Given the description of an element on the screen output the (x, y) to click on. 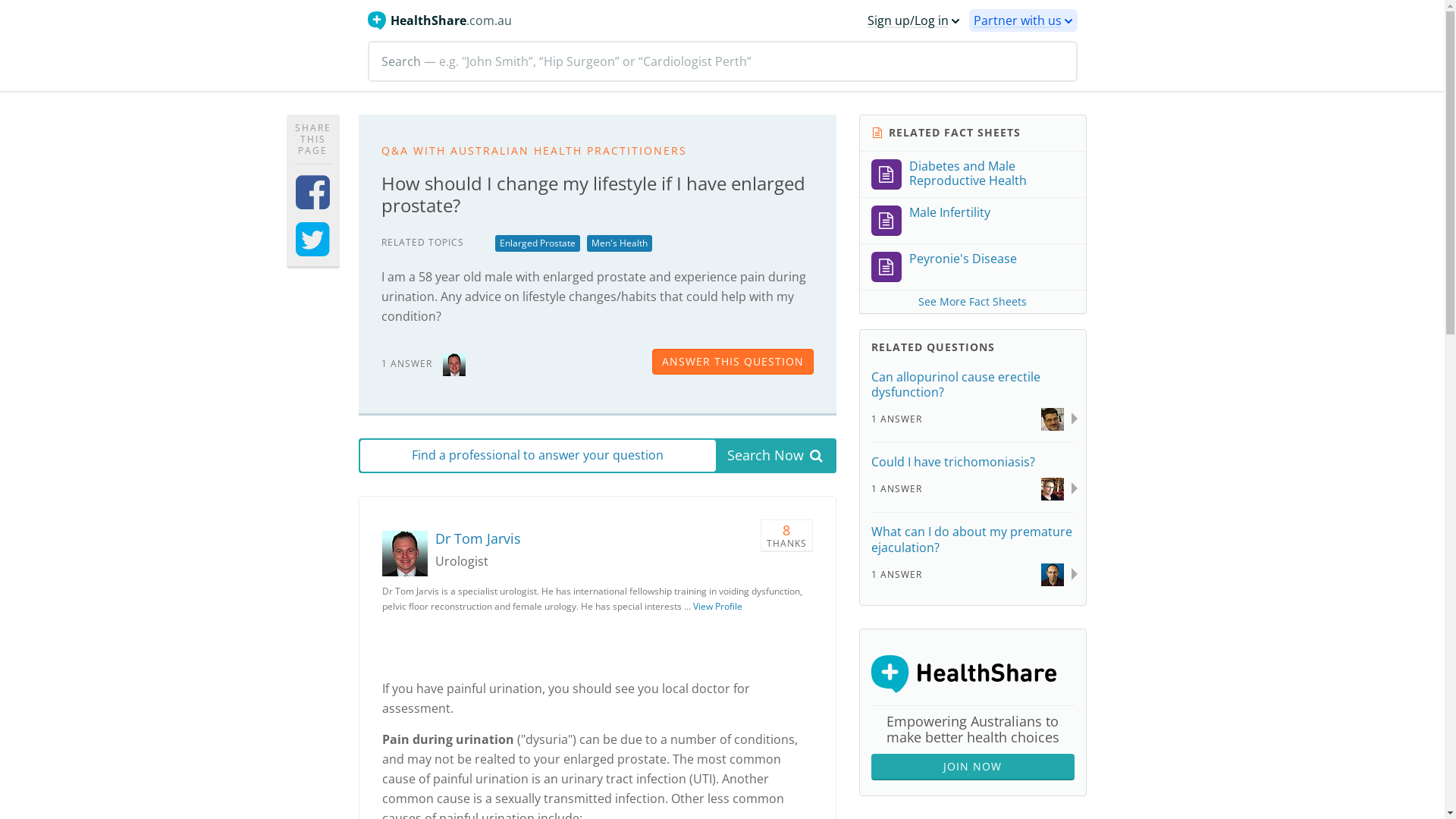
Sign up/Log in Element type: text (913, 20)
Can allopurinol cause erectile dysfunction? Element type: text (954, 384)
Find a professional to answer your question
Search Now Element type: text (596, 455)
Enlarged Prostate Element type: text (536, 243)
JOIN NOW Element type: text (971, 766)
1 ANSWER Element type: text (895, 488)
Jeremy Barbouttis Element type: hover (1052, 572)
HealthShare.com.au Element type: text (438, 20)
Dr Christopher Fox Element type: hover (1052, 418)
Dr Tom Jarvis Element type: hover (408, 553)
Male Infertility Element type: text (972, 220)
View Profile Element type: text (717, 605)
Dr Tom Jarvis Element type: text (477, 538)
See More Fact Sheets Element type: text (972, 301)
Could I have trichomoniasis? Element type: text (952, 461)
Partner with us Element type: text (1023, 20)
Diabetes and Male Reproductive Health Element type: text (972, 174)
Share on Twitter Element type: hover (312, 248)
1 ANSWER Element type: text (895, 418)
1 ANSWER Element type: text (895, 573)
Peyronie's Disease Element type: text (972, 267)
Men's Health Element type: text (619, 243)
ANSWER THIS QUESTION Element type: text (732, 361)
Share on Facebook Element type: hover (312, 201)
What can I do about my premature ejaculation? Element type: text (970, 539)
Dr Stuart Aitken Element type: hover (1052, 487)
